Given the description of an element on the screen output the (x, y) to click on. 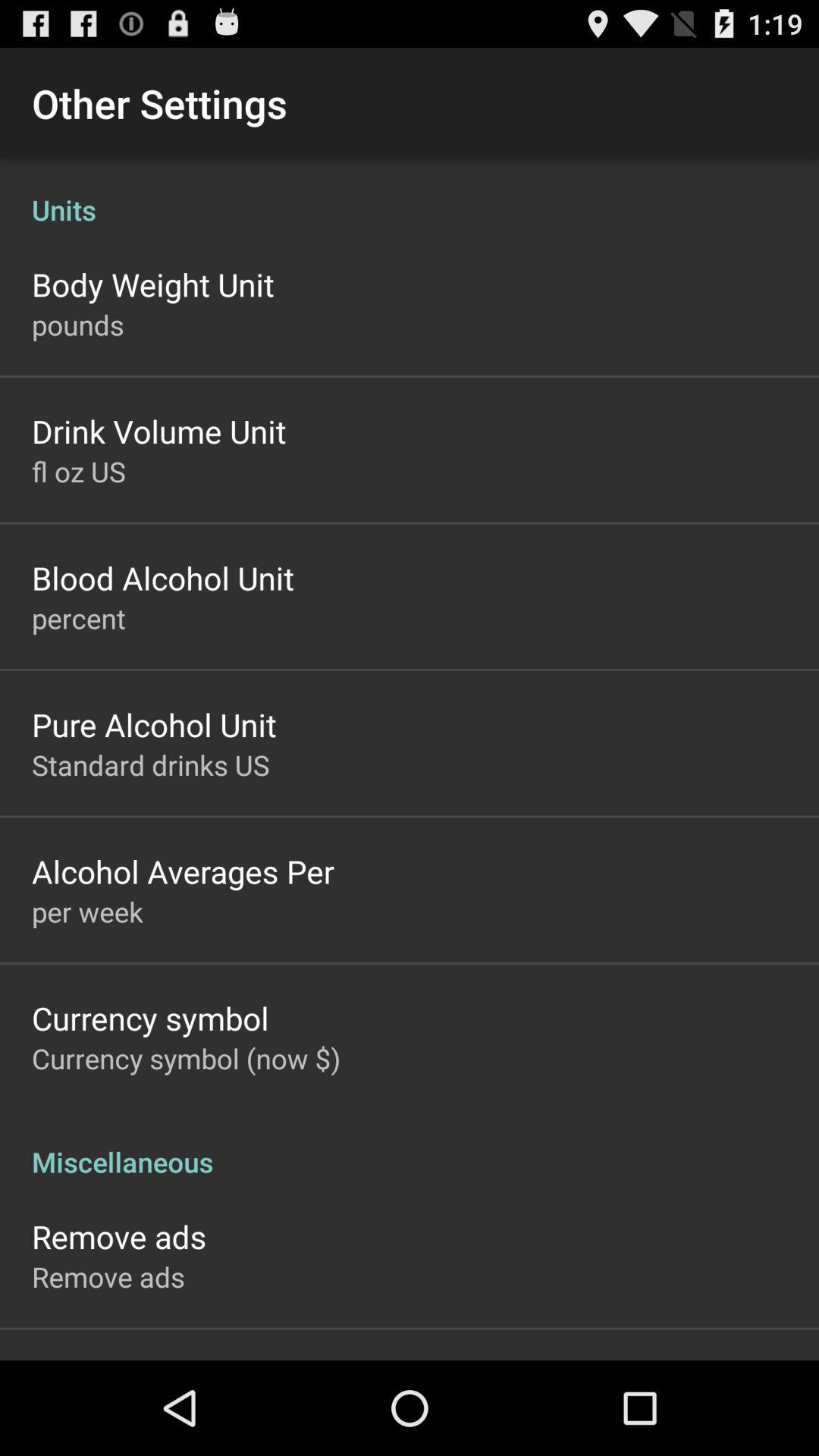
jump until per week (87, 911)
